Given the description of an element on the screen output the (x, y) to click on. 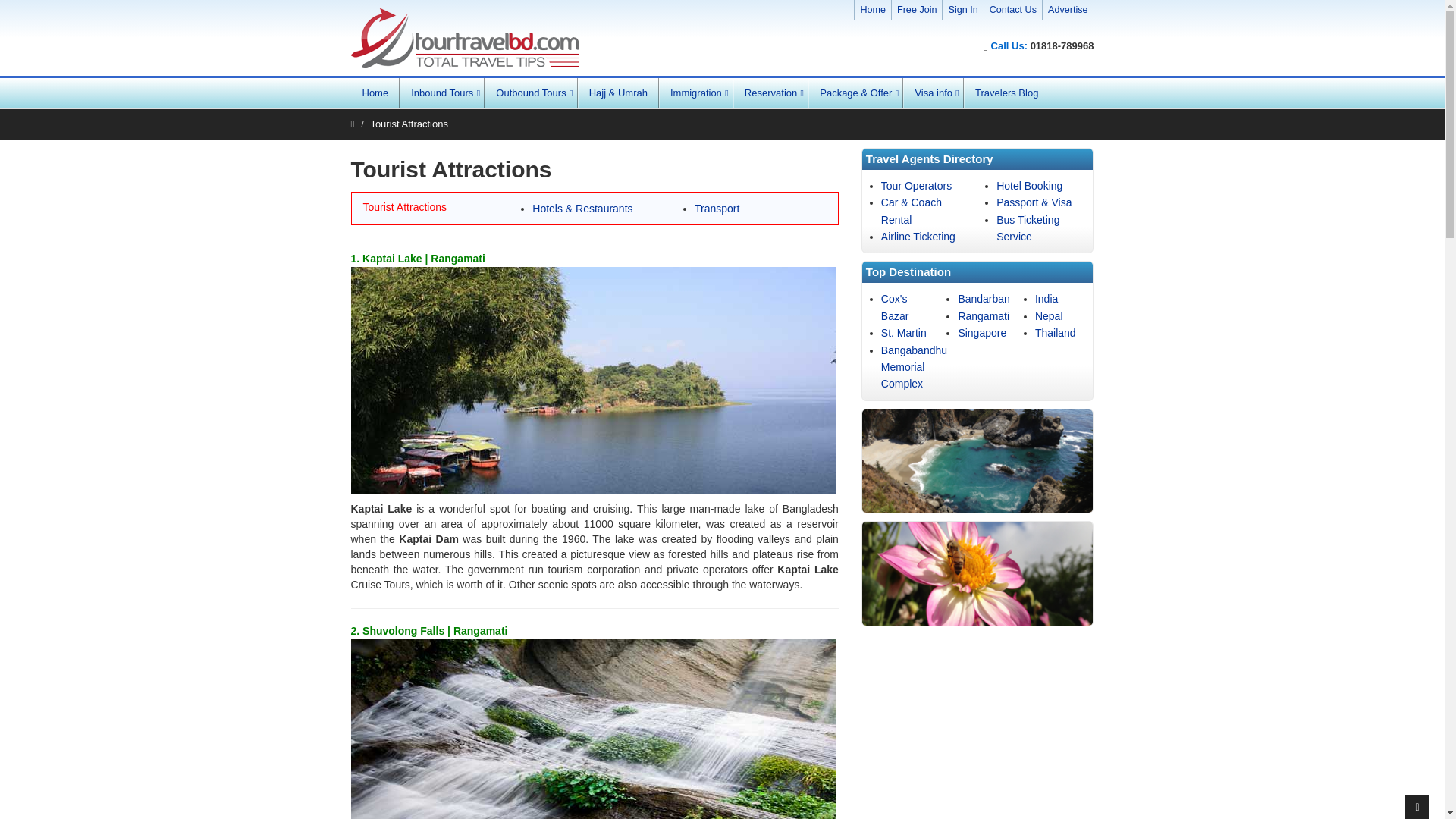
Home (872, 9)
Contact Us (1013, 9)
Outbound Tours (530, 92)
Advertise (1067, 9)
Free Join (916, 9)
Home (374, 92)
Inbound Tours (441, 92)
Immigration (696, 92)
Sign In (961, 9)
Reservation (770, 92)
